Given the description of an element on the screen output the (x, y) to click on. 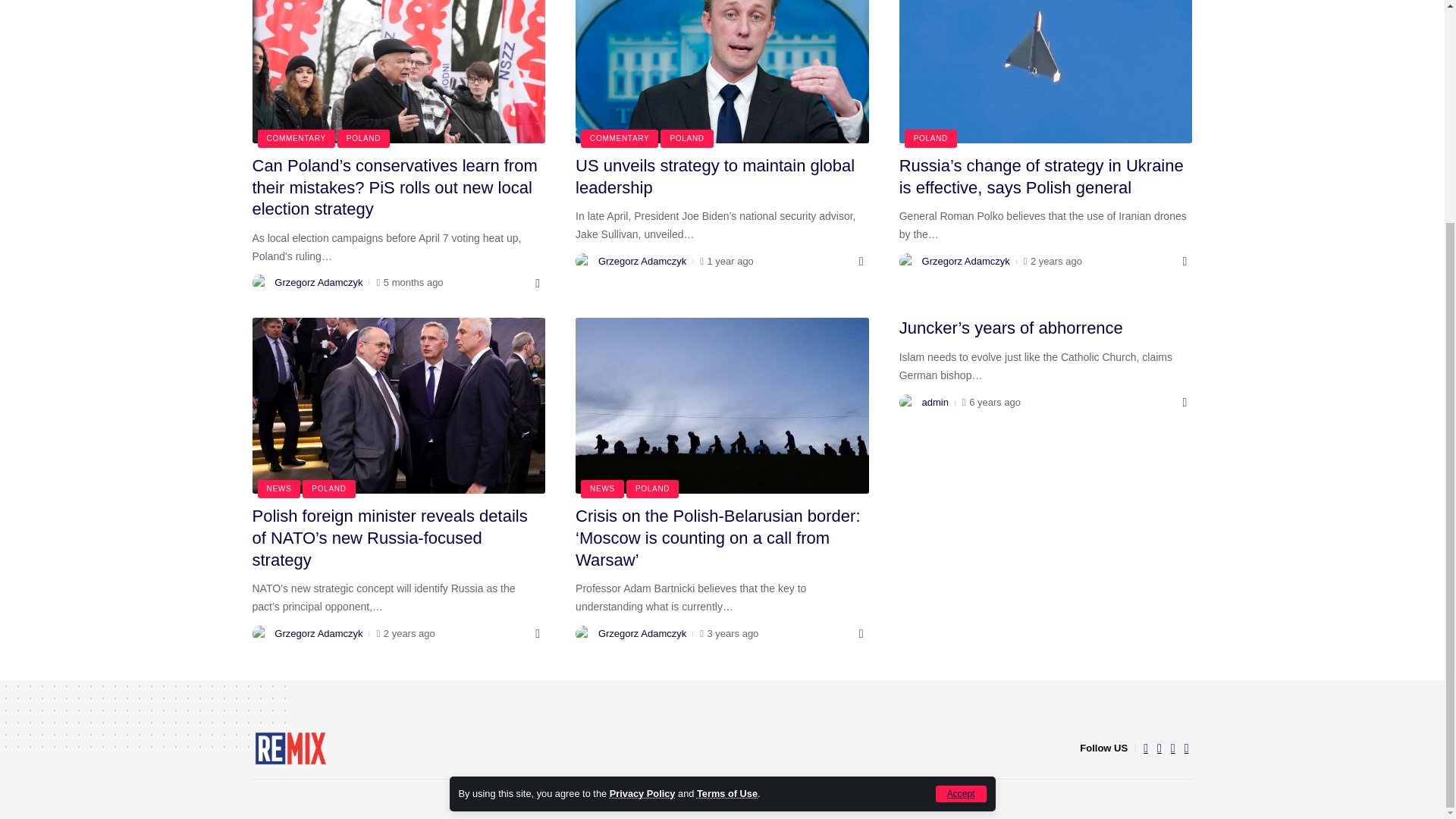
Privacy Policy (642, 496)
Terms of Use (727, 496)
Accept (961, 497)
